Given the description of an element on the screen output the (x, y) to click on. 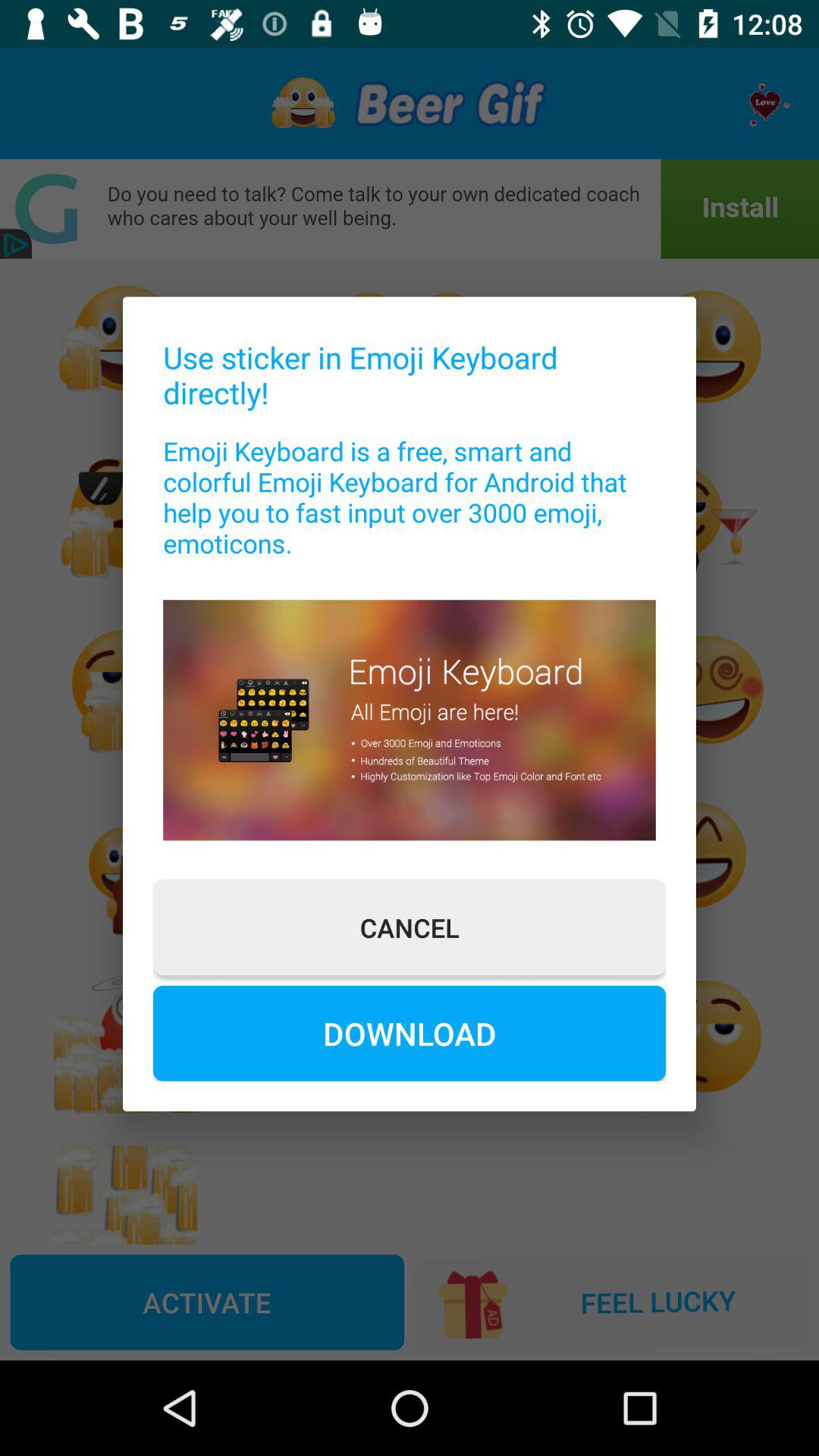
swipe until the download (409, 1033)
